Given the description of an element on the screen output the (x, y) to click on. 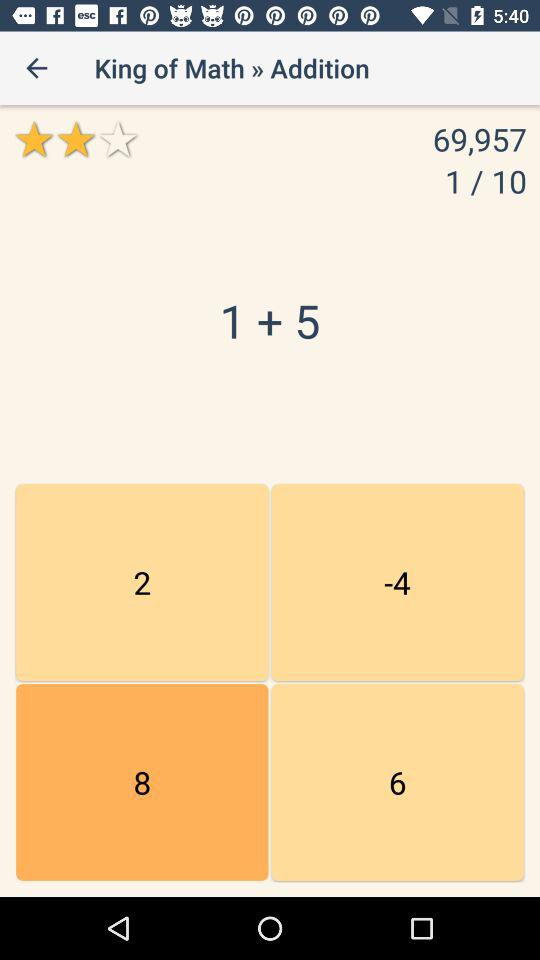
swipe until 25 (397, 582)
